Given the description of an element on the screen output the (x, y) to click on. 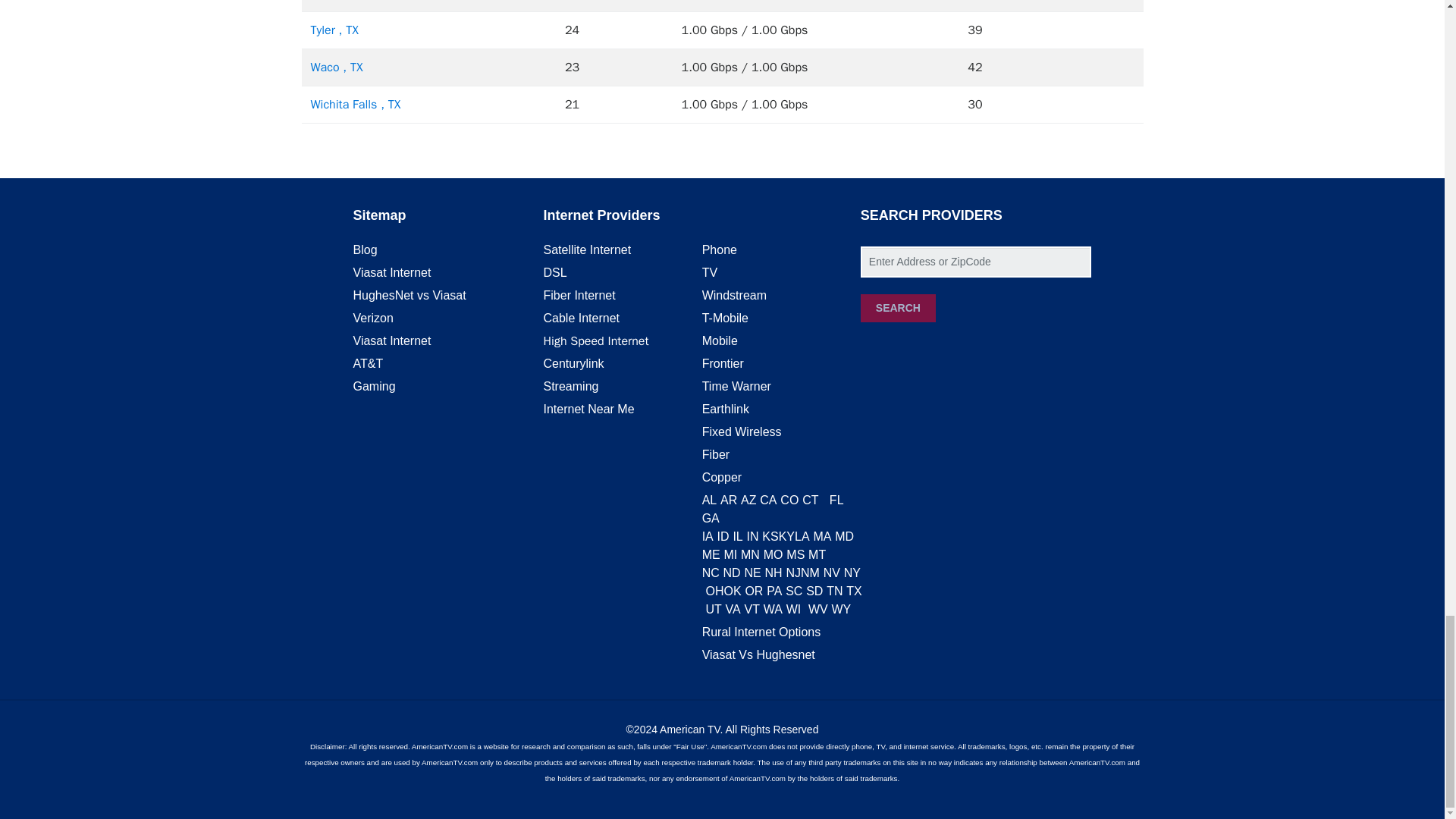
Colorado (788, 499)
Kansas (769, 535)
Idaho (723, 535)
Alabama (709, 499)
Florida (836, 499)
Kentucky (786, 535)
Arizona (748, 499)
Louisiana (801, 535)
Minnesota (750, 554)
Maryland (843, 535)
Connecticut (810, 499)
Georgia (710, 517)
Michigan (729, 554)
Maine (710, 554)
Arkansas (728, 499)
